Given the description of an element on the screen output the (x, y) to click on. 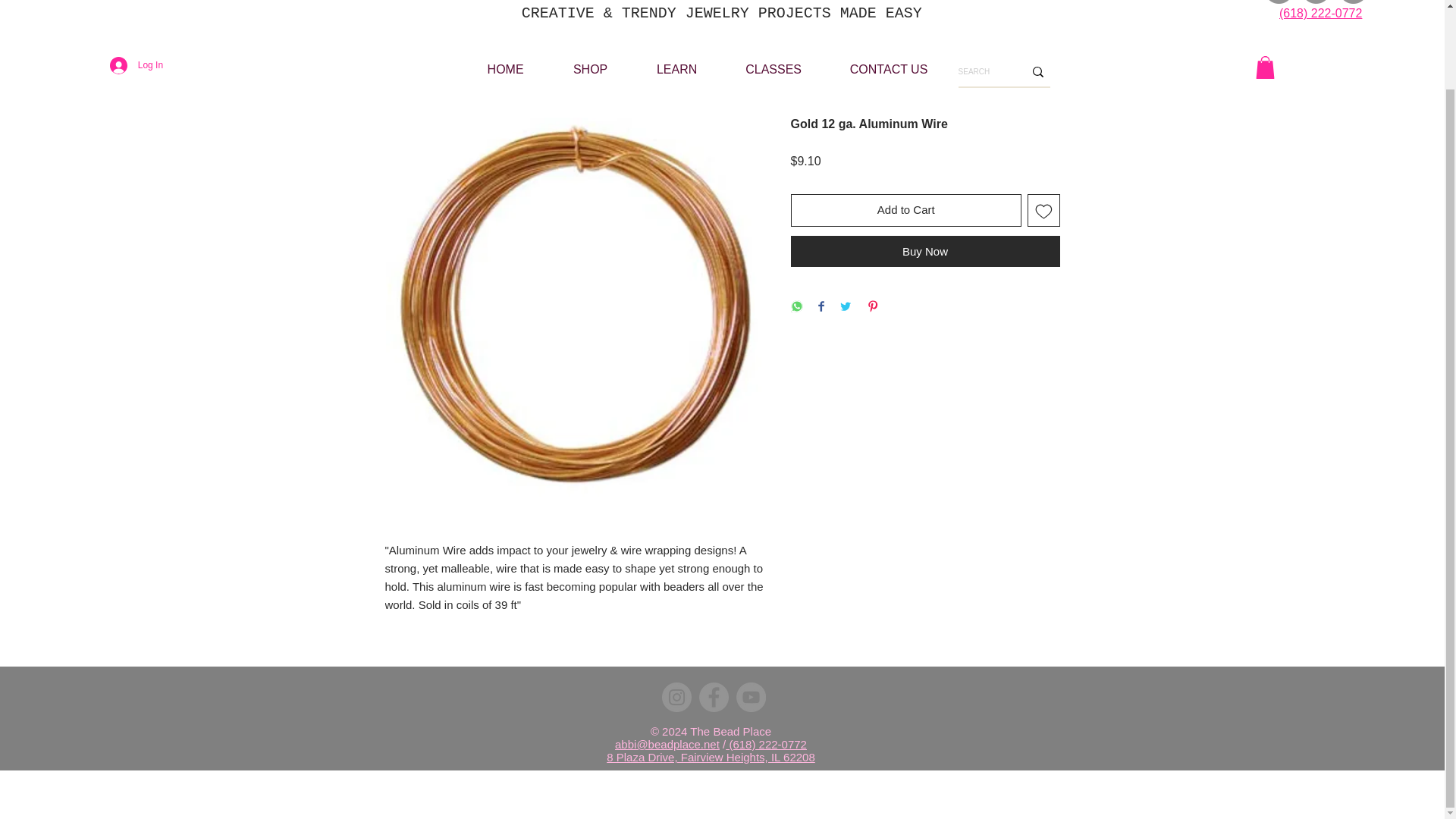
HOME (505, 69)
Buy Now (924, 250)
SHOP (589, 69)
LEARN (676, 69)
CONTACT US (888, 69)
Smile.io Rewards Program Launcher (37, 691)
Add to Cart (906, 210)
CLASSES (773, 69)
Log In (136, 64)
